Given the description of an element on the screen output the (x, y) to click on. 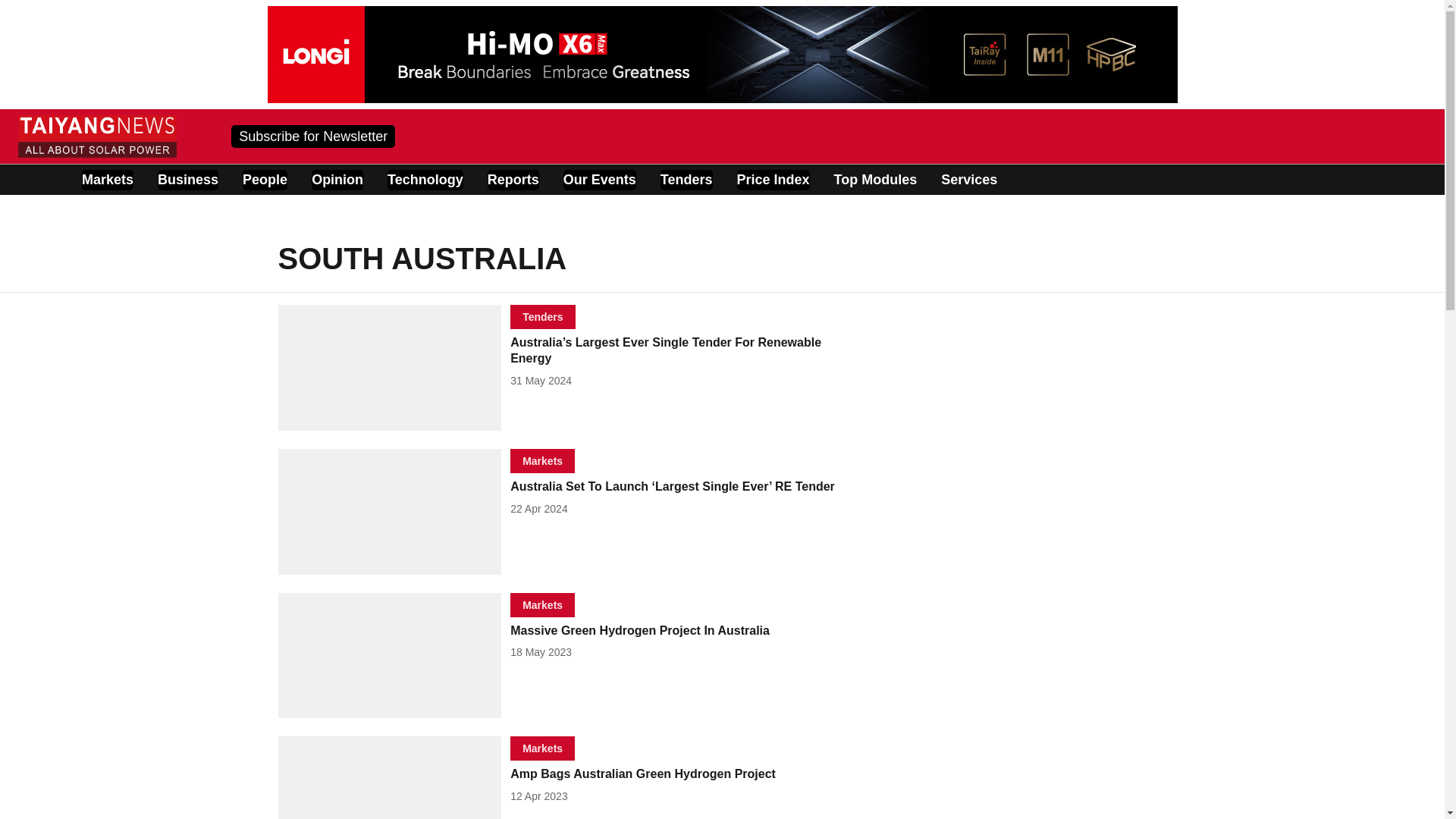
Tenders (687, 179)
2024-05-31 14:23 (541, 380)
Price Index (772, 179)
Markets (543, 603)
Business (187, 179)
2023-05-18 15:05 (541, 652)
Massive Green Hydrogen Project In Australia (685, 631)
Amp Bags Australian Green Hydrogen Project (685, 774)
People (264, 179)
Opinion (336, 179)
Markets (107, 179)
Markets (543, 460)
Technology (425, 179)
2023-04-12 13:59 (539, 796)
